Given the description of an element on the screen output the (x, y) to click on. 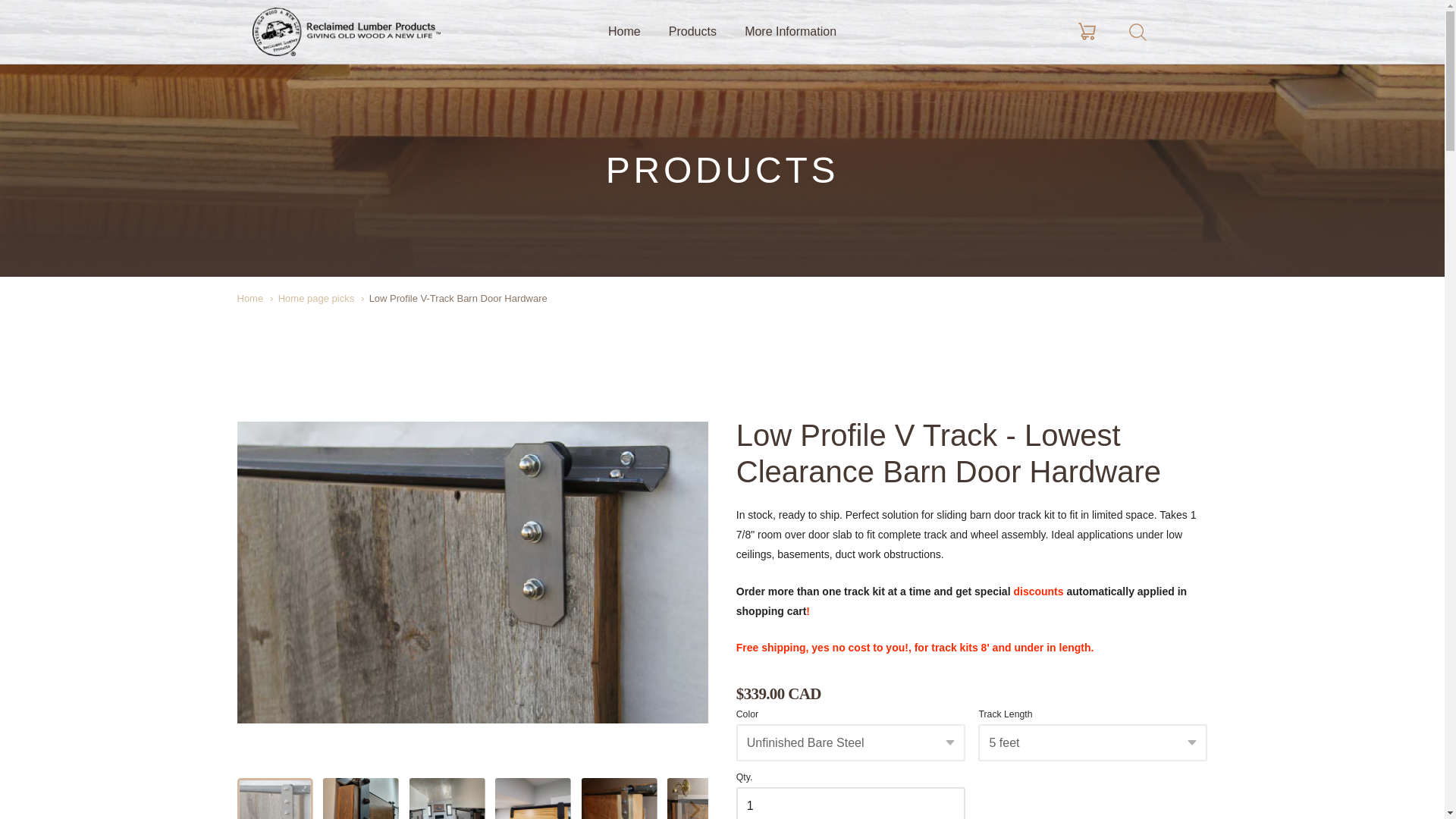
Home page picks (311, 297)
Home (624, 31)
1 (850, 803)
Low Profile V-Track Barn Door Hardware (454, 297)
Products (692, 31)
Home (249, 297)
Reclaimed Lumber Products (345, 31)
